Given the description of an element on the screen output the (x, y) to click on. 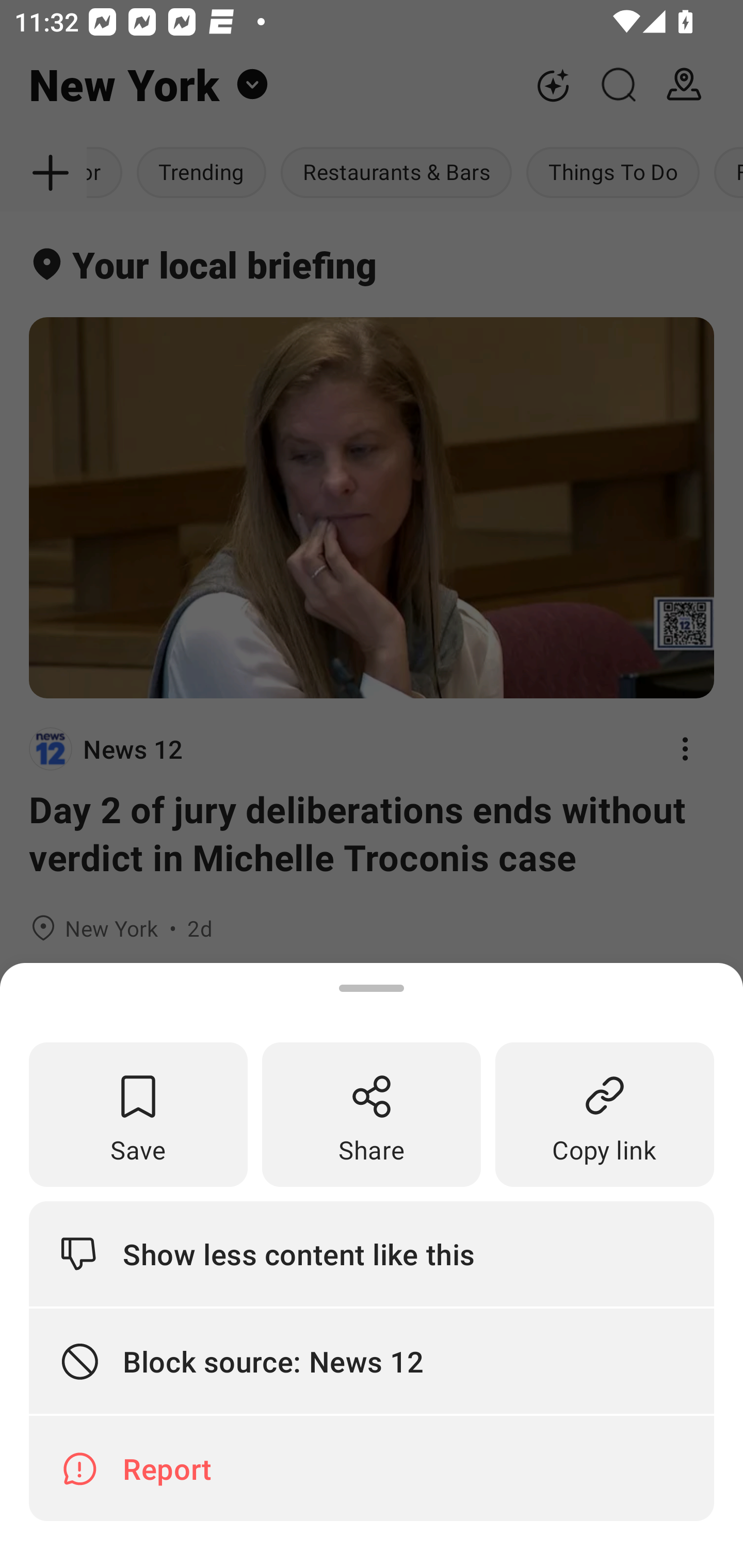
Save (137, 1114)
Share (371, 1114)
Copy link (604, 1114)
Show less content like this (371, 1253)
Block source: News 12 (371, 1361)
Report (371, 1467)
